Given the description of an element on the screen output the (x, y) to click on. 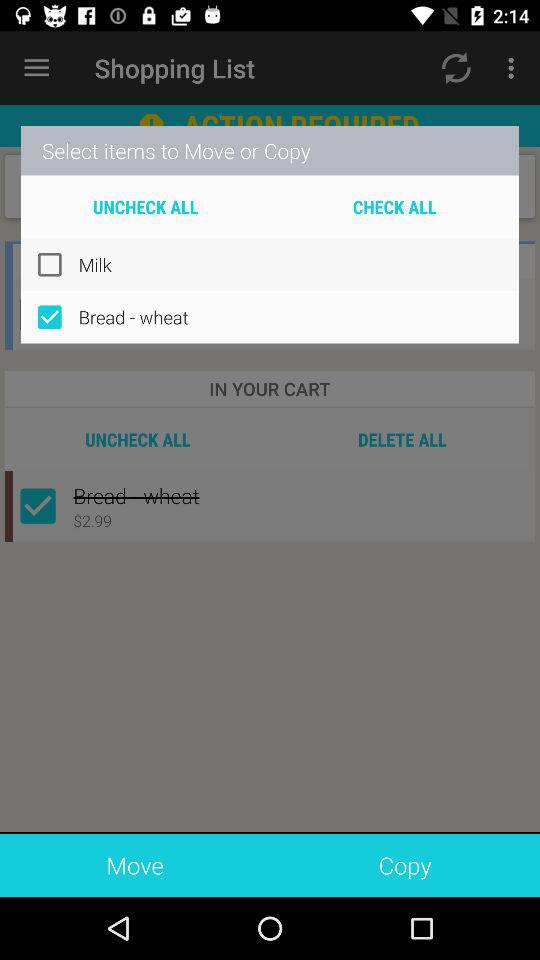
turn on the item above uncheck all item (270, 150)
